Given the description of an element on the screen output the (x, y) to click on. 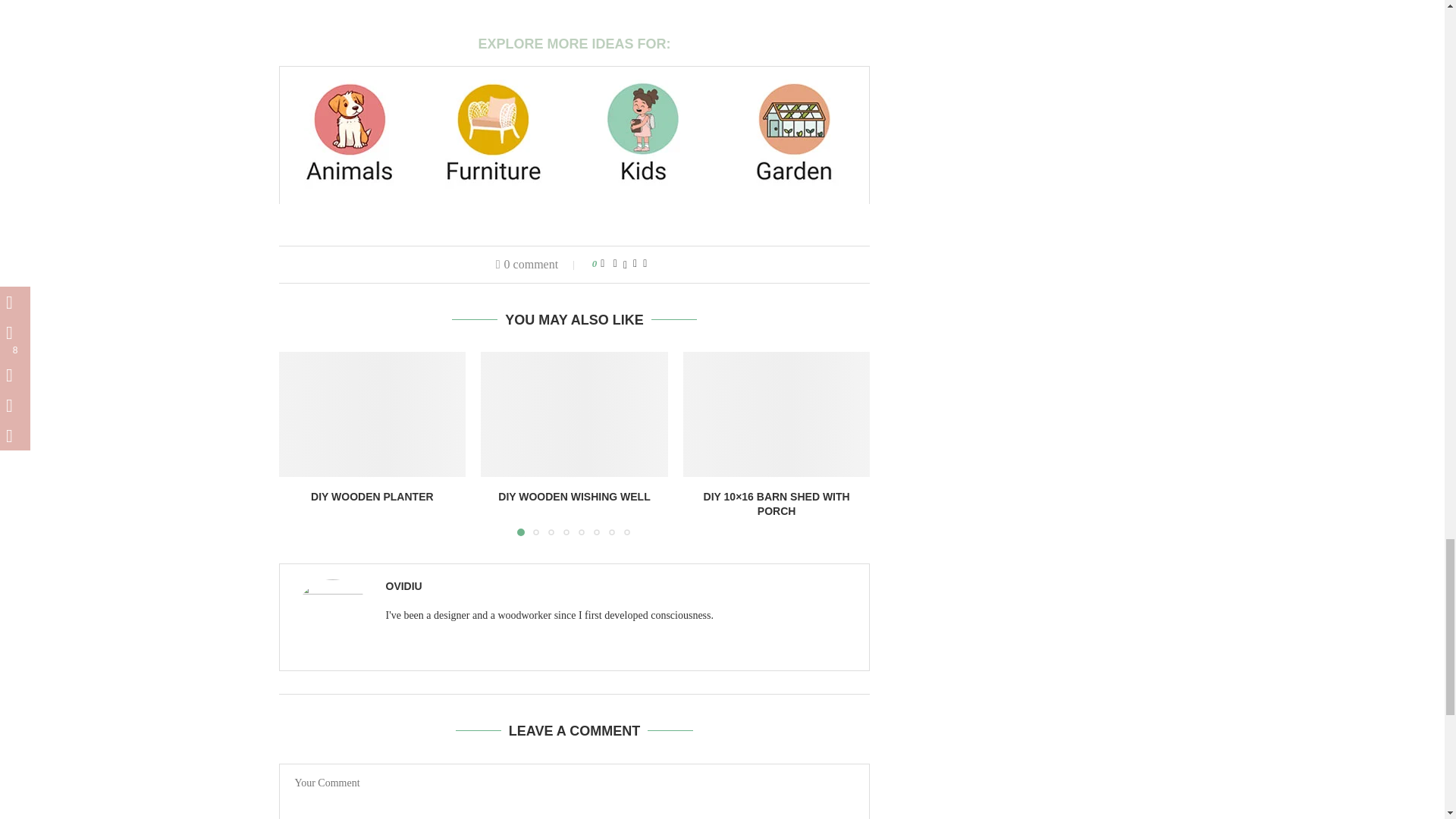
DIY WOODEN WISHING WELL (573, 496)
DIY WOODEN PLANTER (372, 496)
DIY Wooden Planter (372, 413)
DIY Wooden Wishing Well (574, 413)
